Given the description of an element on the screen output the (x, y) to click on. 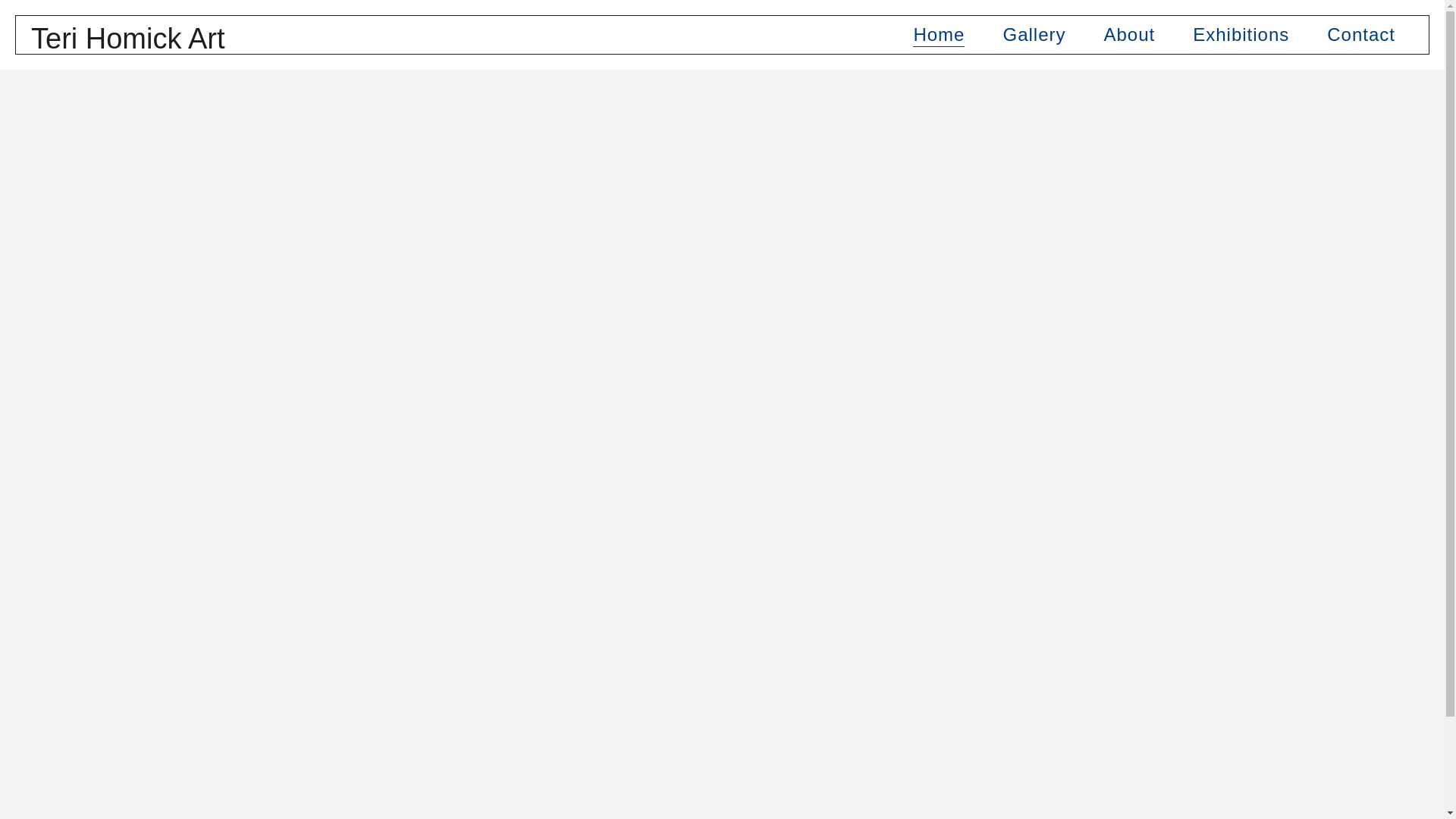
Gallery (1034, 34)
About (1129, 34)
Home (937, 34)
Contact (1360, 34)
Exhibitions (1240, 34)
Teri Homick Art (127, 38)
